Given the description of an element on the screen output the (x, y) to click on. 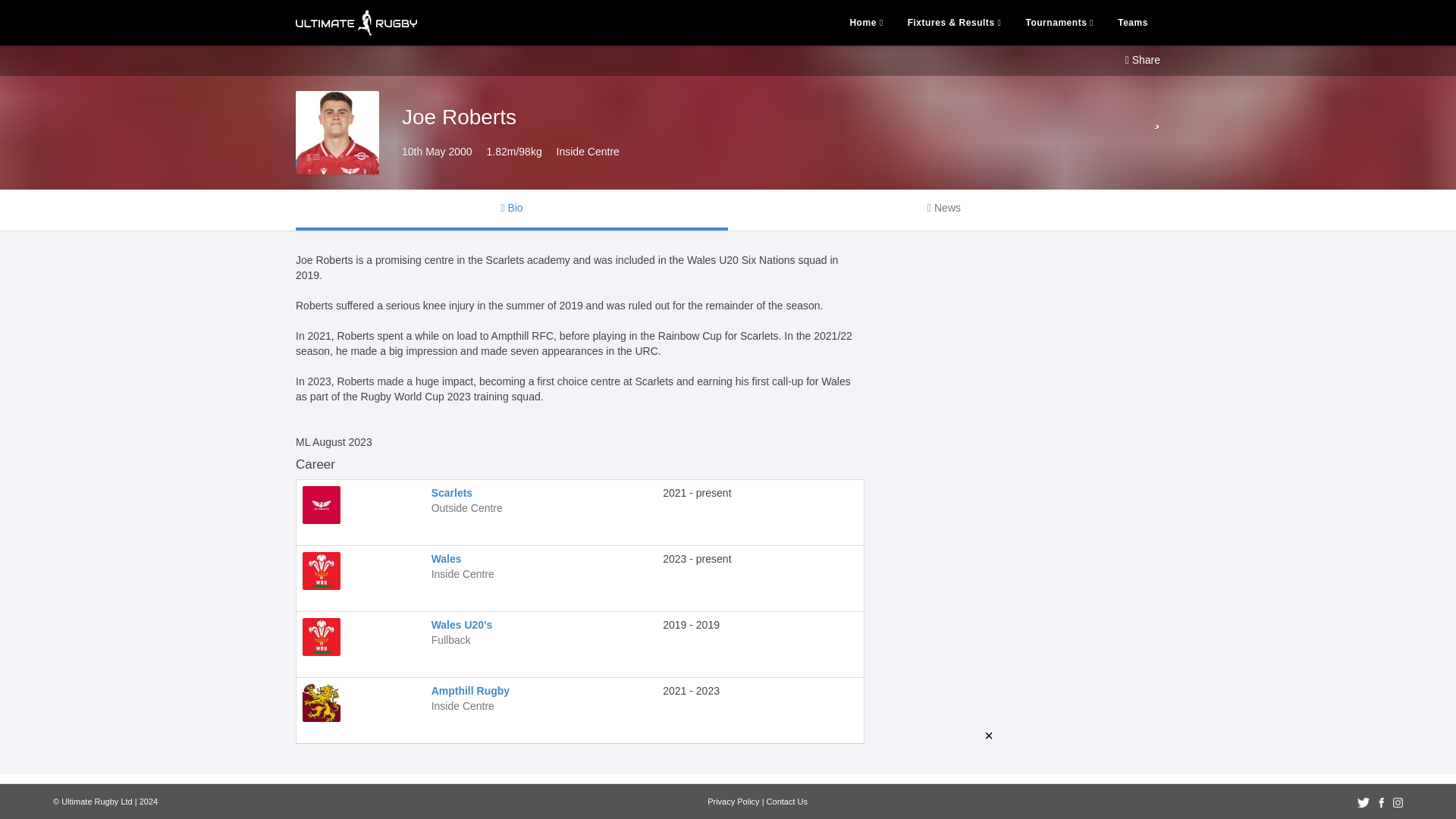
Home (866, 22)
Tournaments (1059, 22)
